Given the description of an element on the screen output the (x, y) to click on. 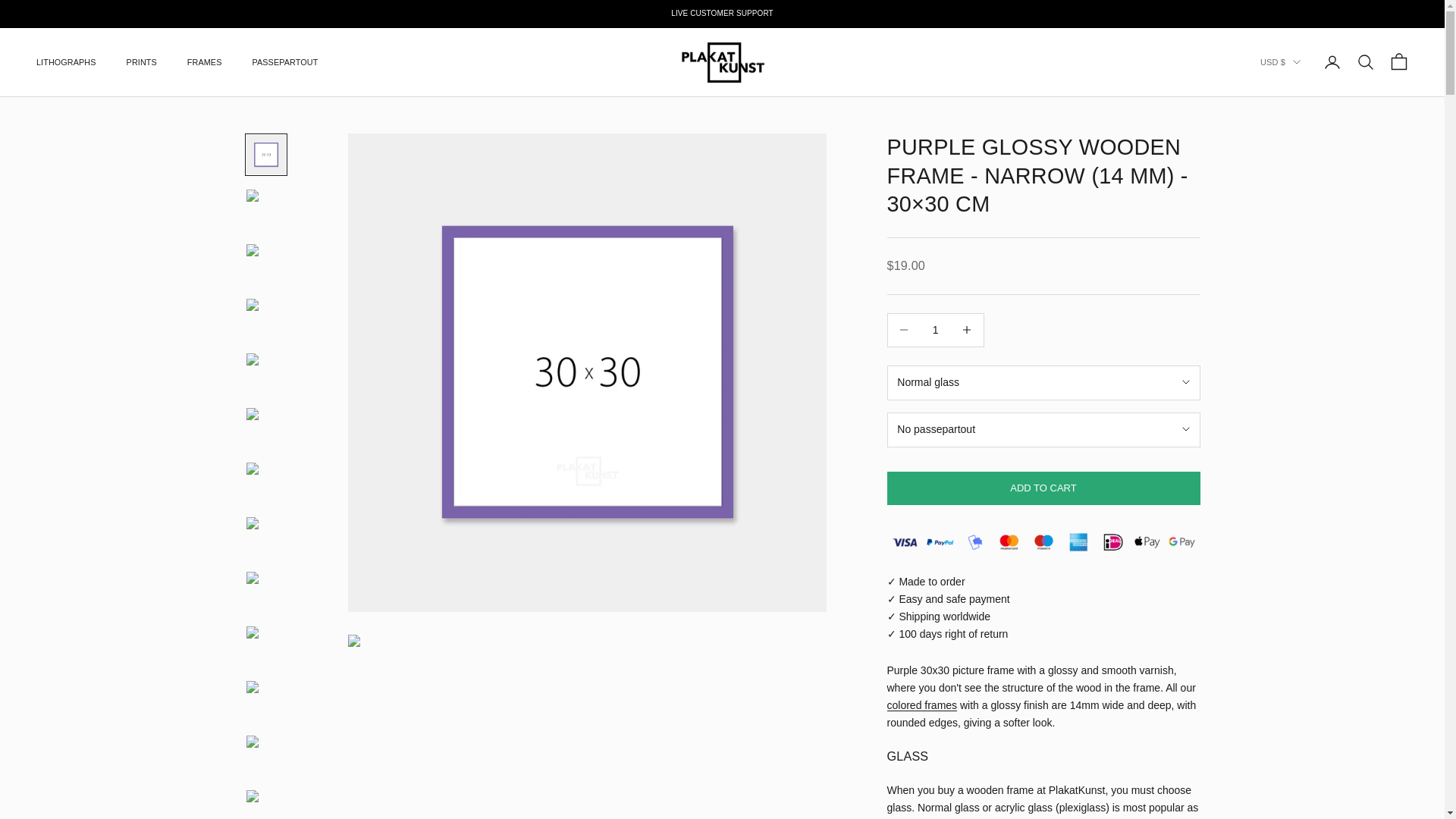
PlakatKunst (722, 62)
Colored frames (922, 705)
1 (935, 329)
